Given the description of an element on the screen output the (x, y) to click on. 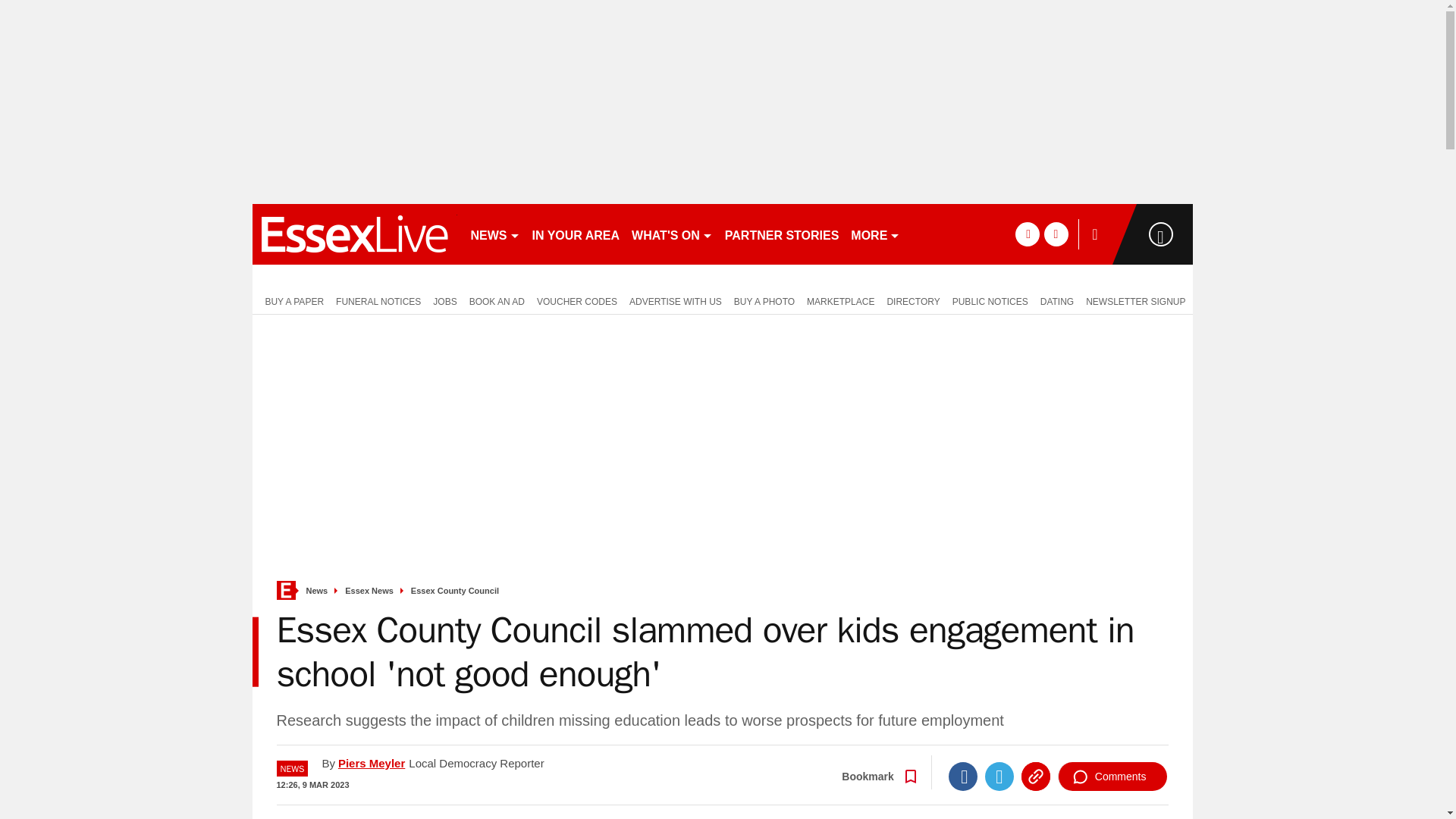
Comments (1112, 776)
Twitter (999, 776)
WHAT'S ON (672, 233)
MORE (874, 233)
PARTNER STORIES (782, 233)
twitter (1055, 233)
IN YOUR AREA (575, 233)
facebook (1026, 233)
Facebook (962, 776)
essexlive (354, 233)
